Given the description of an element on the screen output the (x, y) to click on. 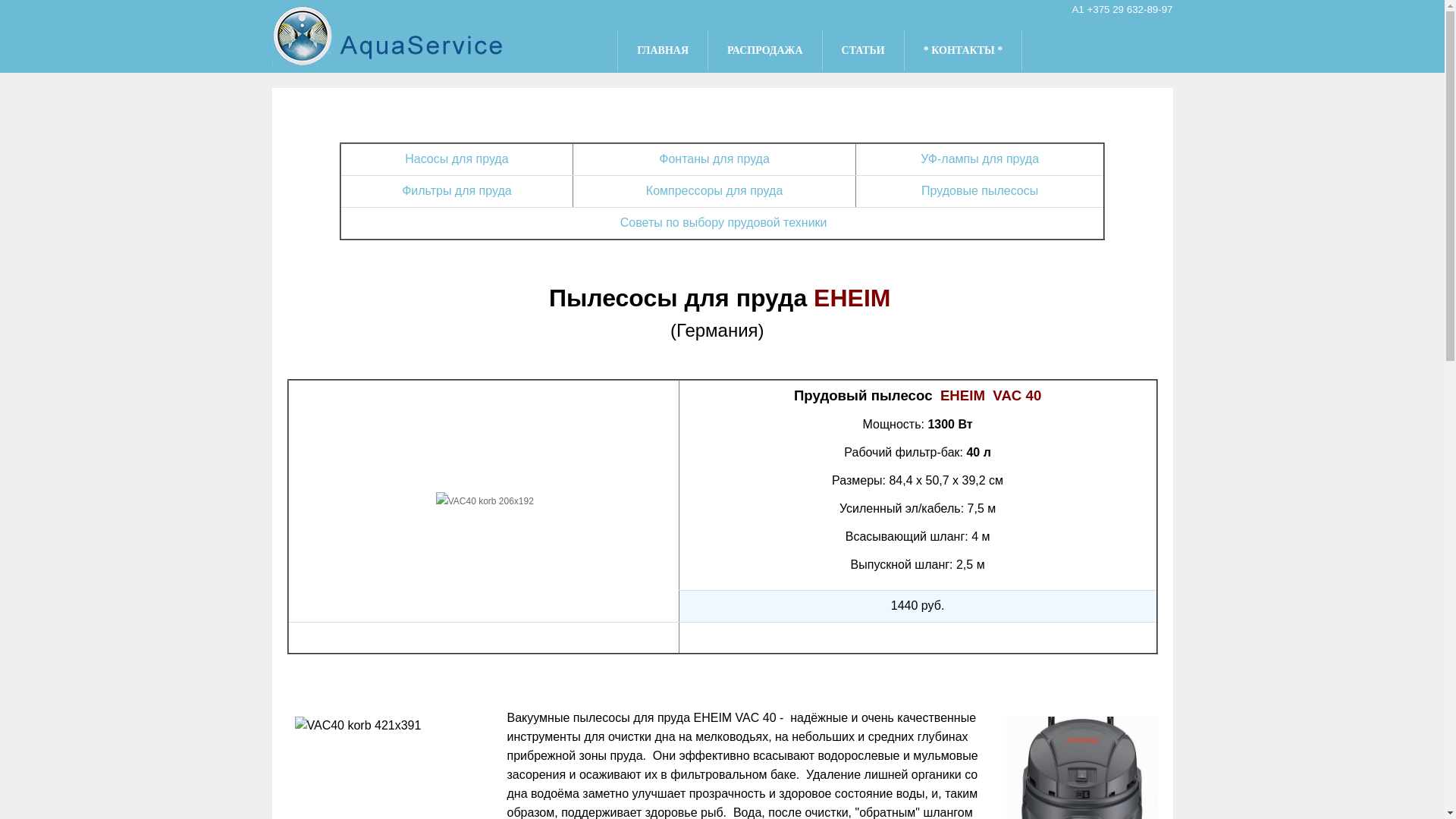
aqua-service.by Element type: hover (387, 35)
